Given the description of an element on the screen output the (x, y) to click on. 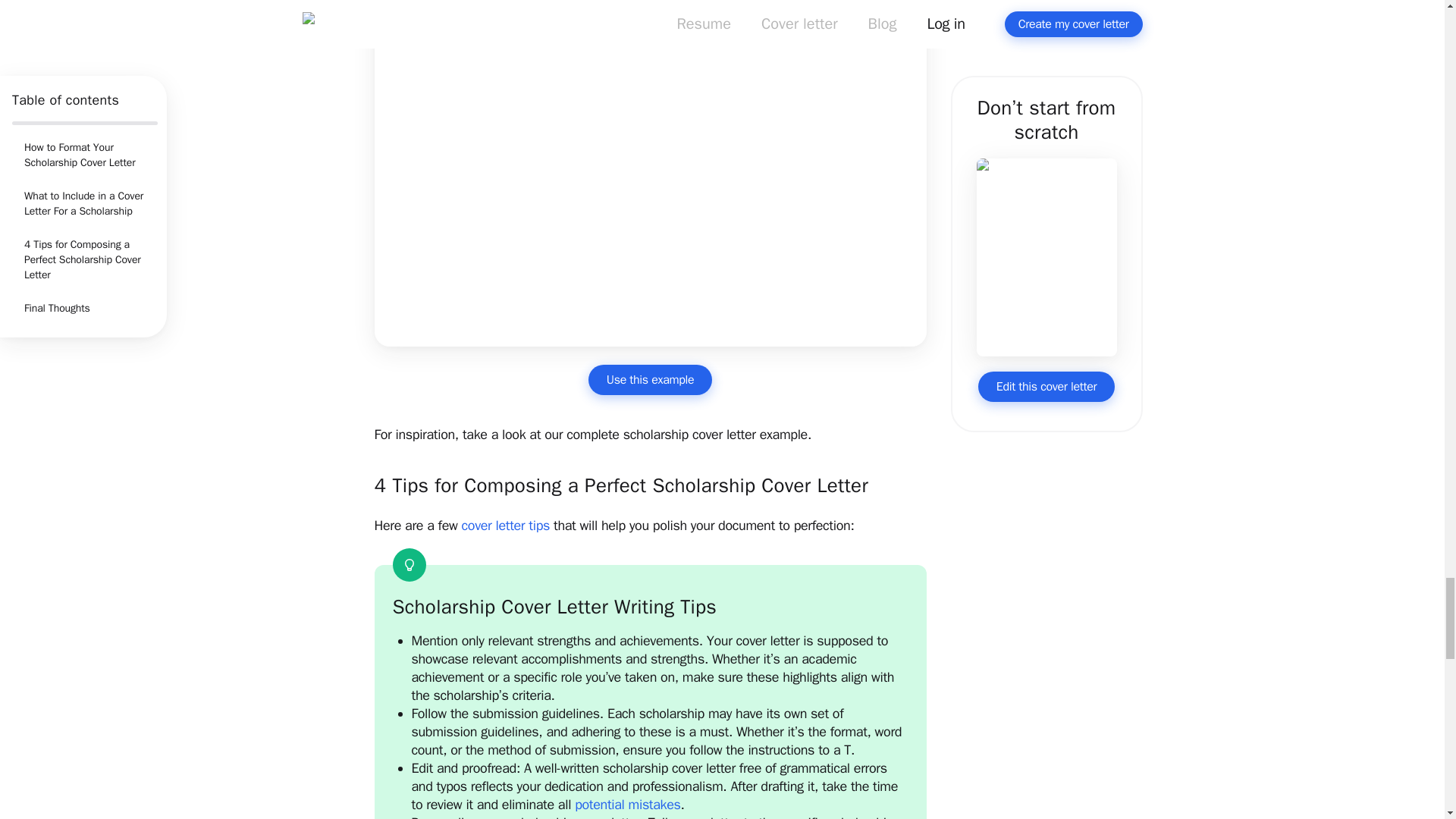
Use this example (649, 379)
cover letter tips (505, 524)
potential mistakes (627, 804)
